Given the description of an element on the screen output the (x, y) to click on. 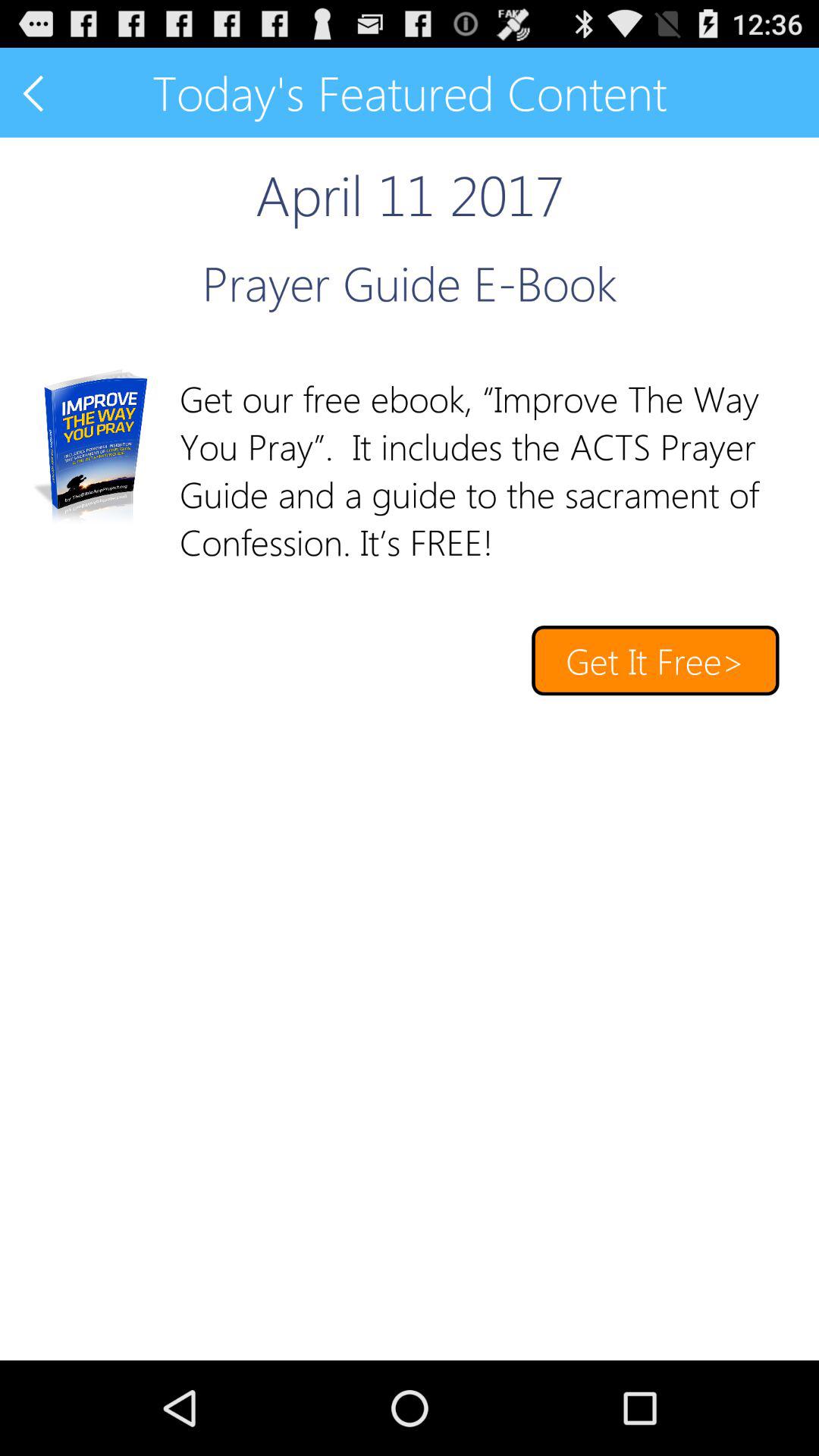
go to previous (34, 92)
